Given the description of an element on the screen output the (x, y) to click on. 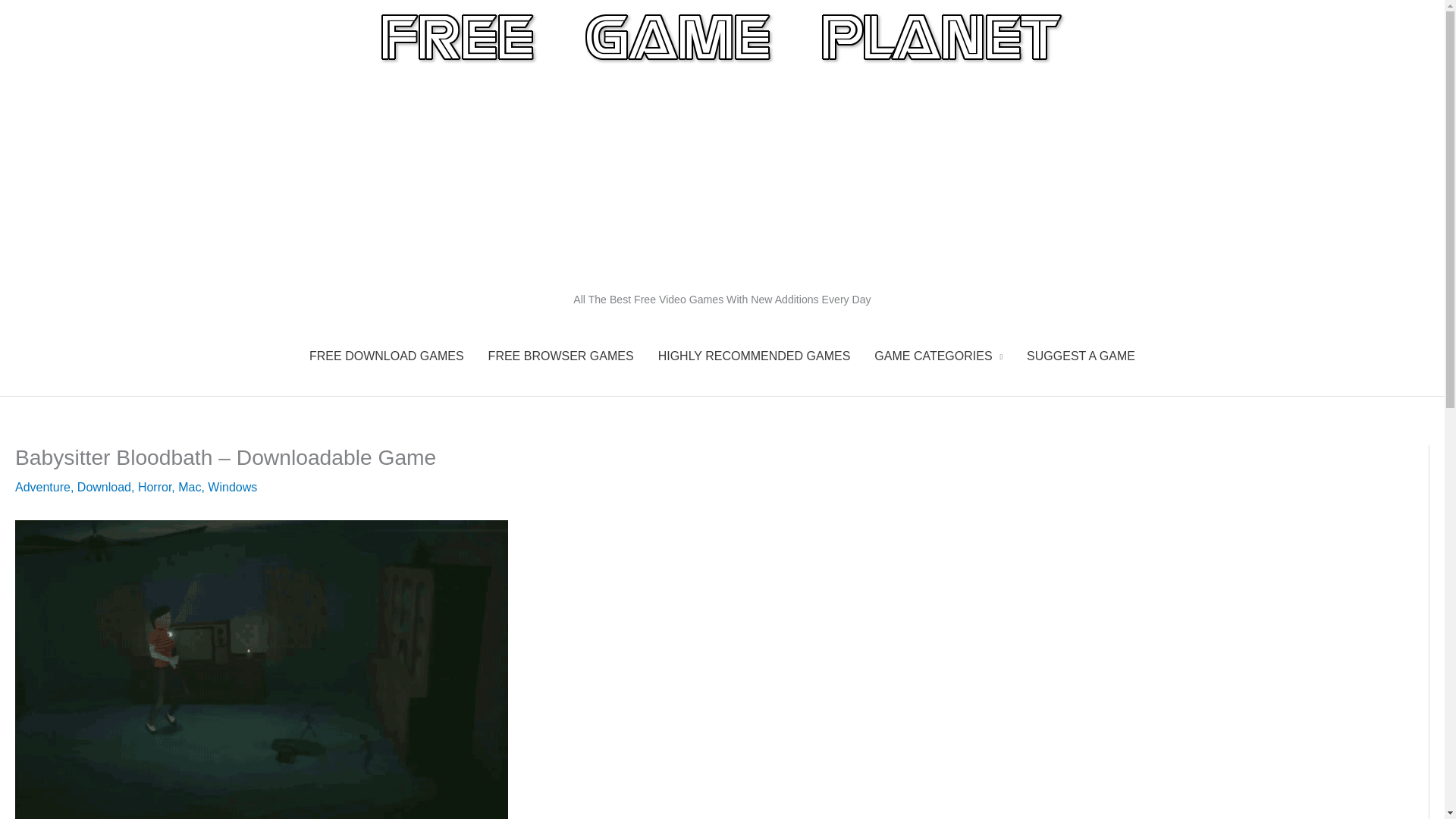
HIGHLY RECOMMENDED GAMES (754, 356)
GAME CATEGORIES (937, 356)
FREE BROWSER GAMES (561, 356)
FREE DOWNLOAD GAMES (386, 356)
